Given the description of an element on the screen output the (x, y) to click on. 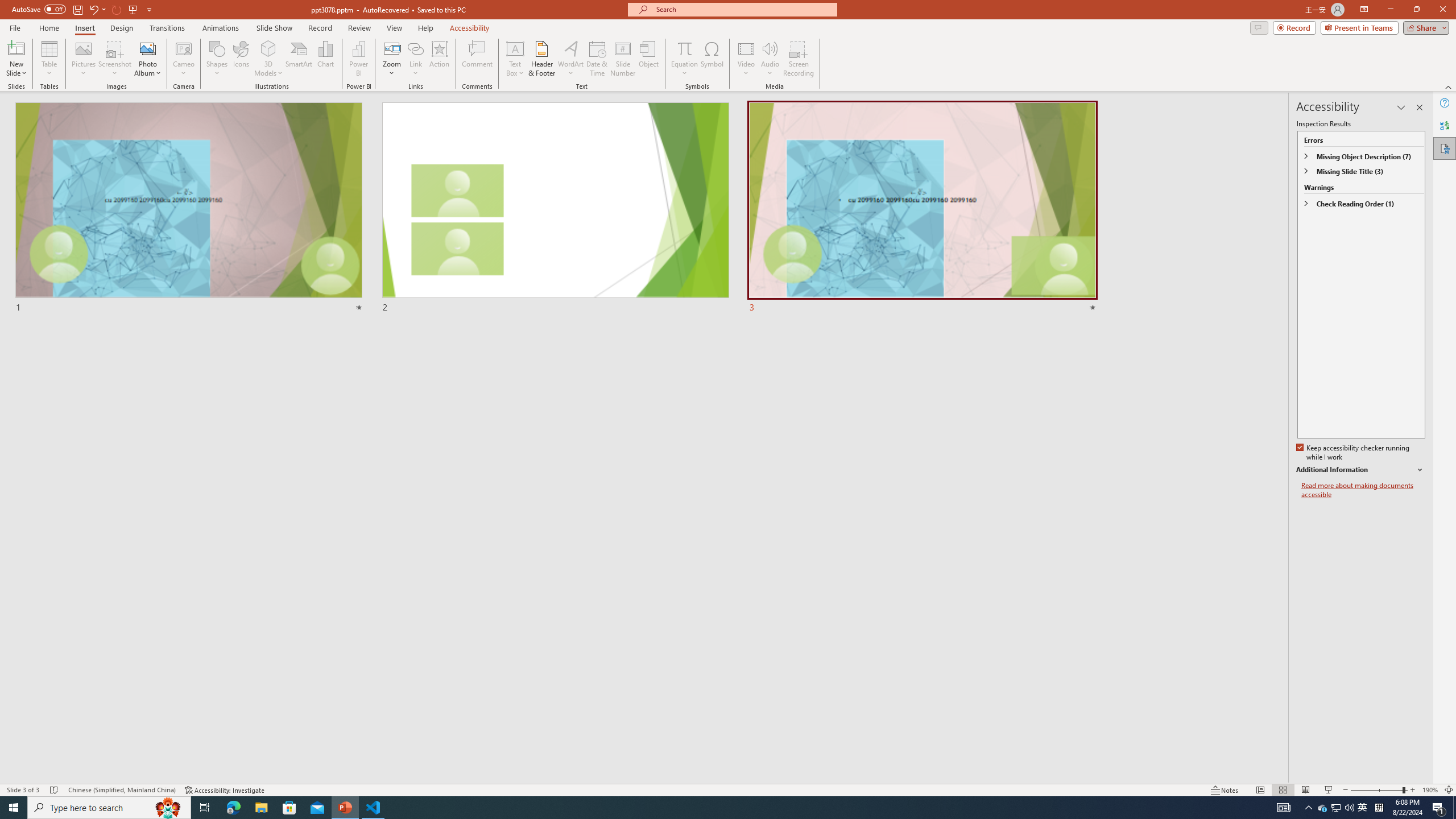
Header & Footer... (541, 58)
Link (415, 58)
3D Models (268, 48)
Date & Time... (596, 58)
